Given the description of an element on the screen output the (x, y) to click on. 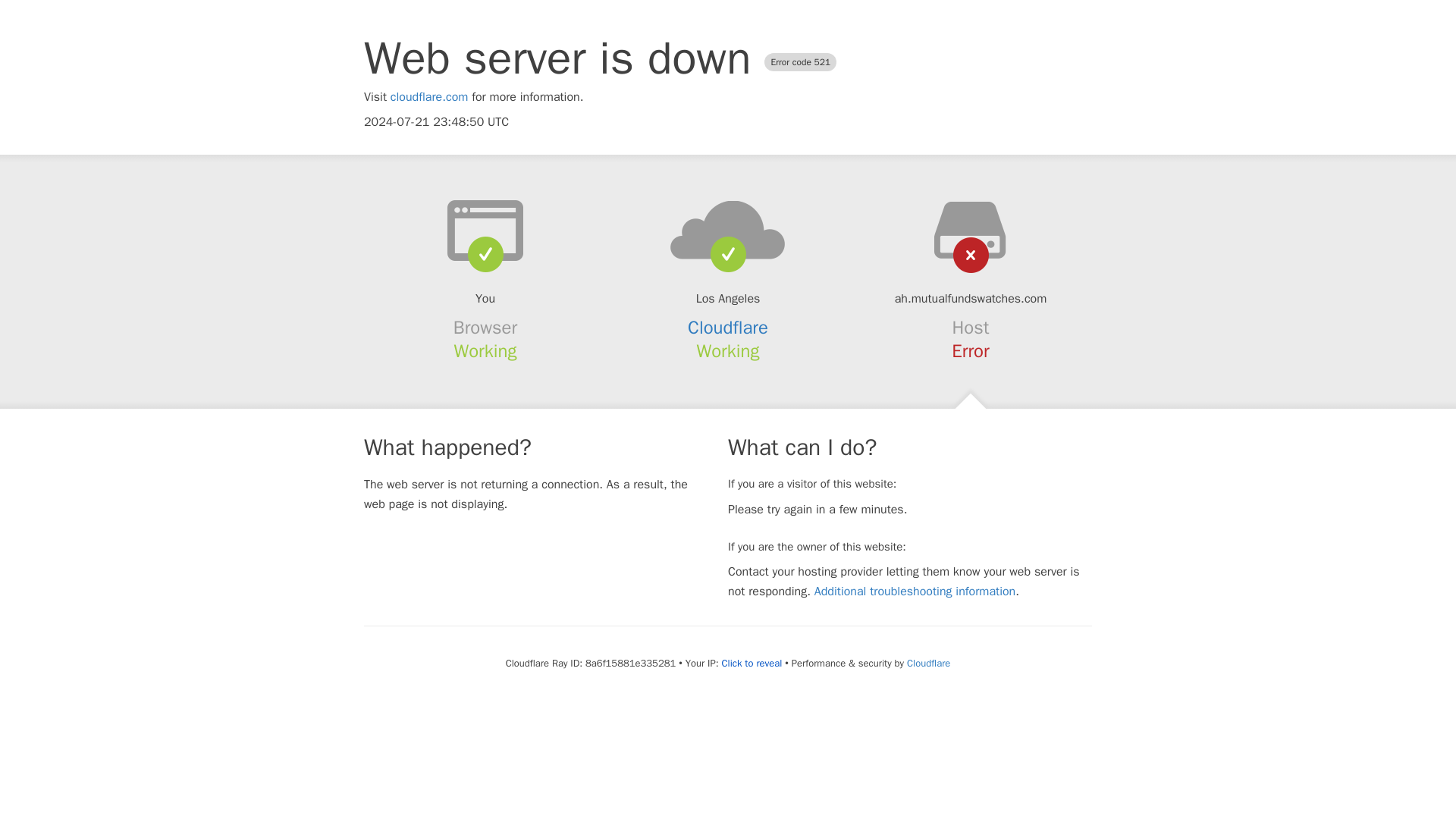
Additional troubleshooting information (913, 590)
Cloudflare (727, 327)
Cloudflare (928, 662)
Click to reveal (750, 663)
cloudflare.com (429, 96)
